Given the description of an element on the screen output the (x, y) to click on. 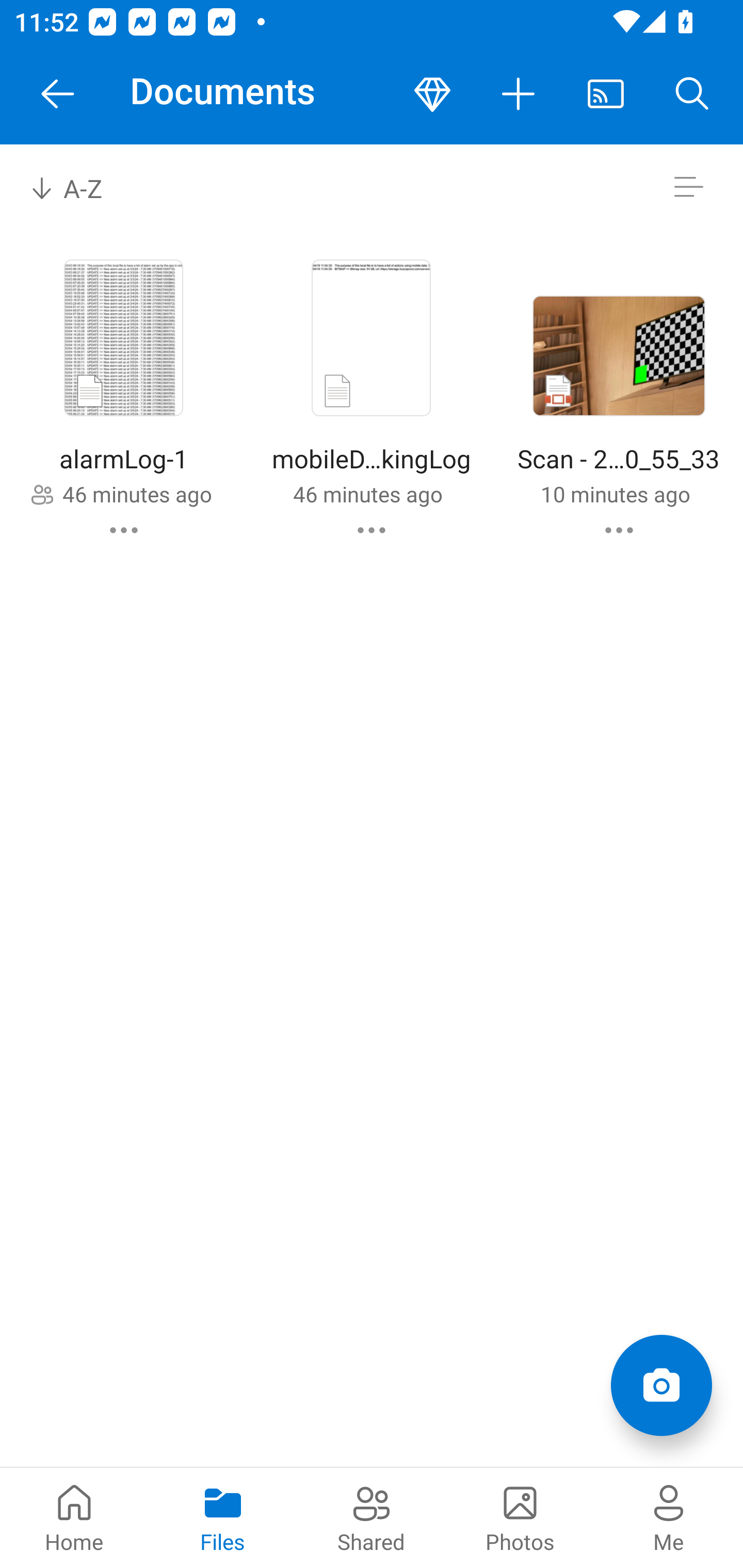
Navigate Up (57, 93)
Cast. Disconnected (605, 93)
Premium button (432, 93)
More actions button (518, 93)
Search button (692, 93)
A-Z Sort by combo box, sort by name, A to Z (80, 187)
Switch to list view (688, 187)
46 minutes ago (136, 493)
46 minutes ago (367, 493)
10 minutes ago (615, 493)
alarmLog-1 commands (123, 529)
mobileDataTrackingLog commands (371, 529)
Scan - 2024-03-28 10_55_33 commands (618, 529)
Add items Scan (660, 1385)
Home pivot Home (74, 1517)
Shared pivot Shared (371, 1517)
Photos pivot Photos (519, 1517)
Me pivot Me (668, 1517)
